Given the description of an element on the screen output the (x, y) to click on. 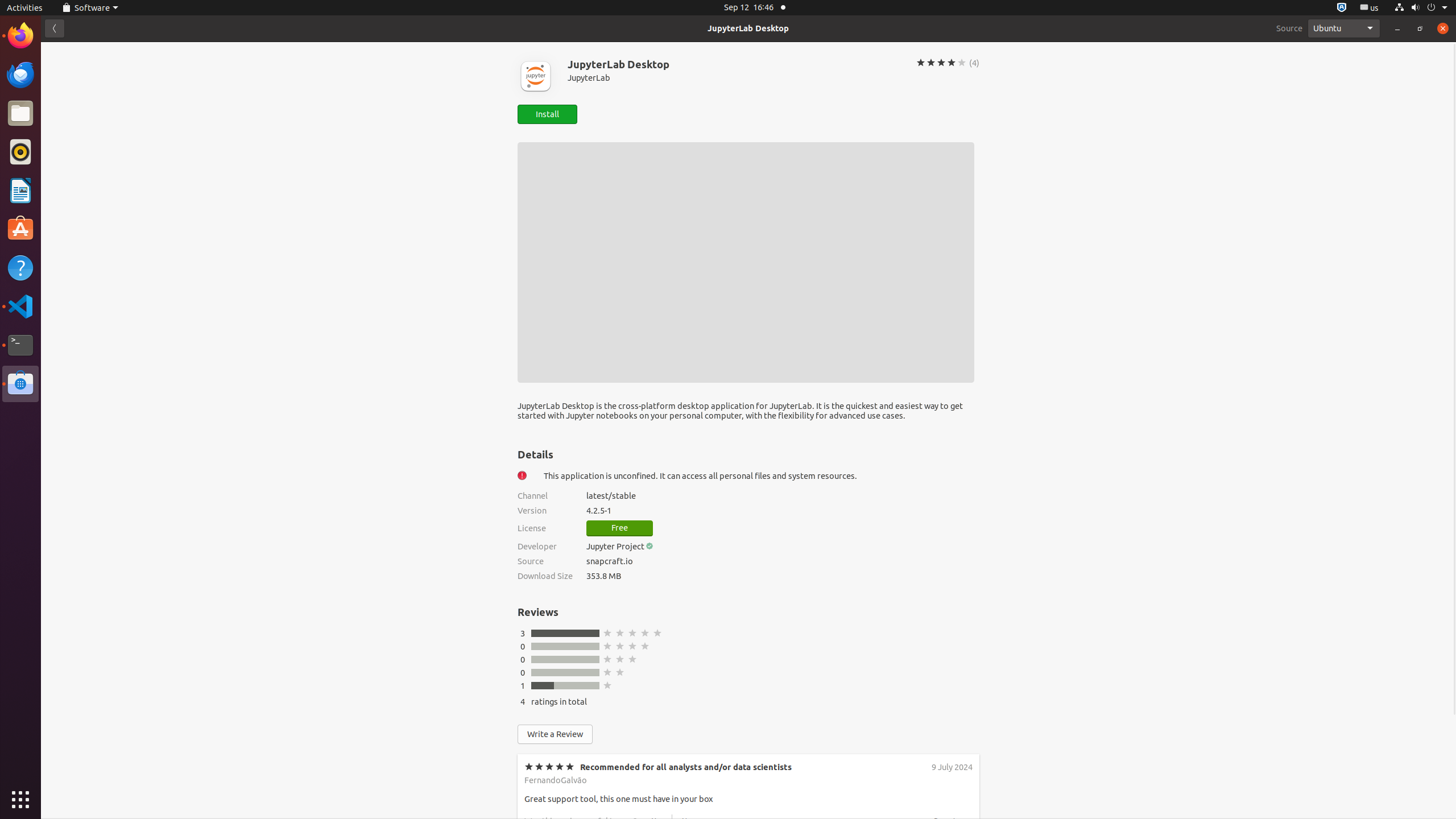
Software Element type: menu (89, 7)
Restore Element type: push-button (1419, 27)
li.txt Element type: label (146, 50)
353.8 MB Element type: label (782, 575)
JupyterLab Desktop is the cross-platform desktop application for JupyterLab. It is the quickest and easiest way to get started with Jupyter notebooks on your personal computer, with the flexibility for advanced use cases.
 Element type: label (748, 414)
